Given the description of an element on the screen output the (x, y) to click on. 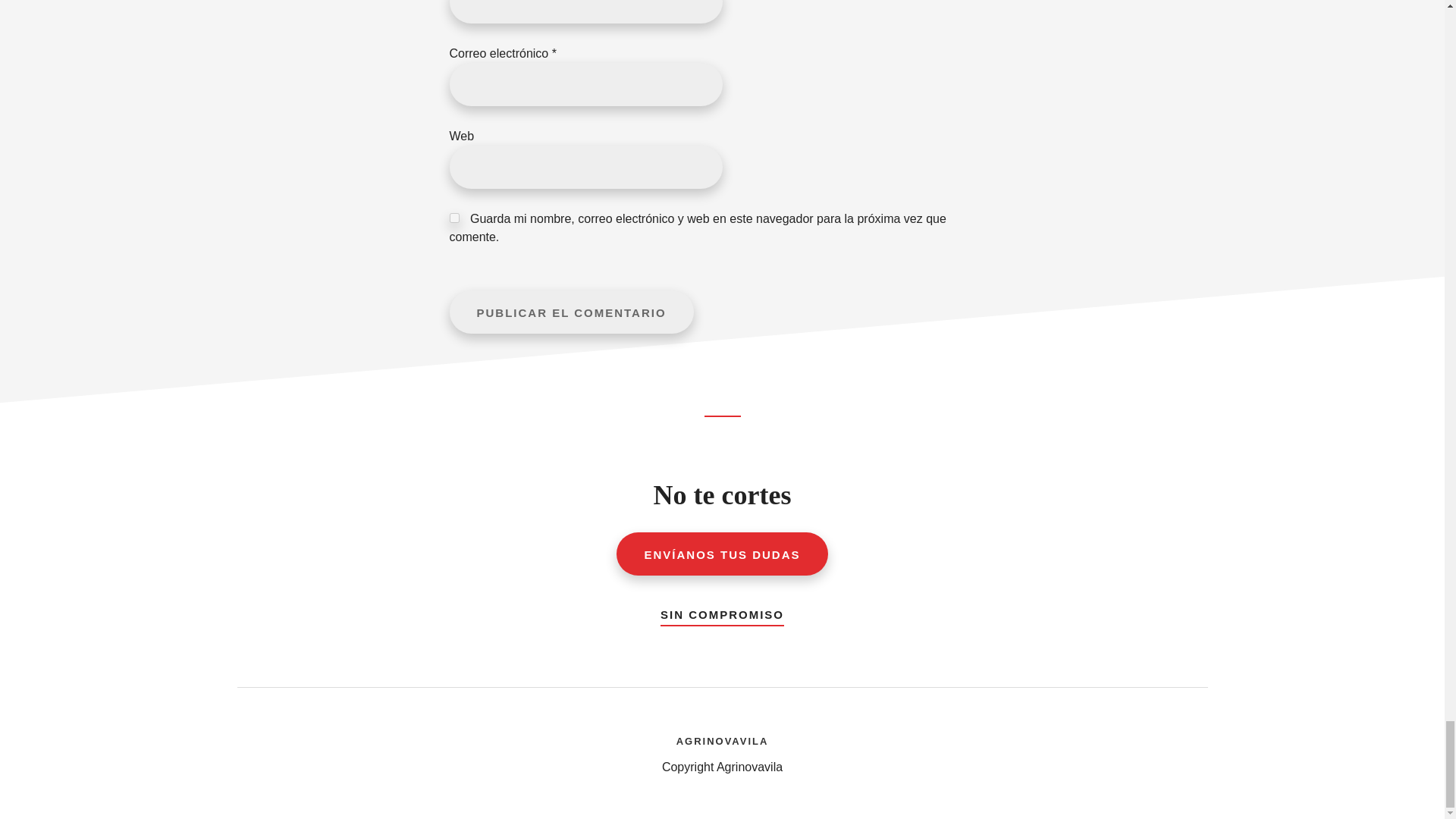
SIN COMPROMISO (722, 611)
Publicar el comentario (570, 311)
AGRINOVAVILA (722, 739)
yes (453, 217)
Publicar el comentario (570, 311)
